Given the description of an element on the screen output the (x, y) to click on. 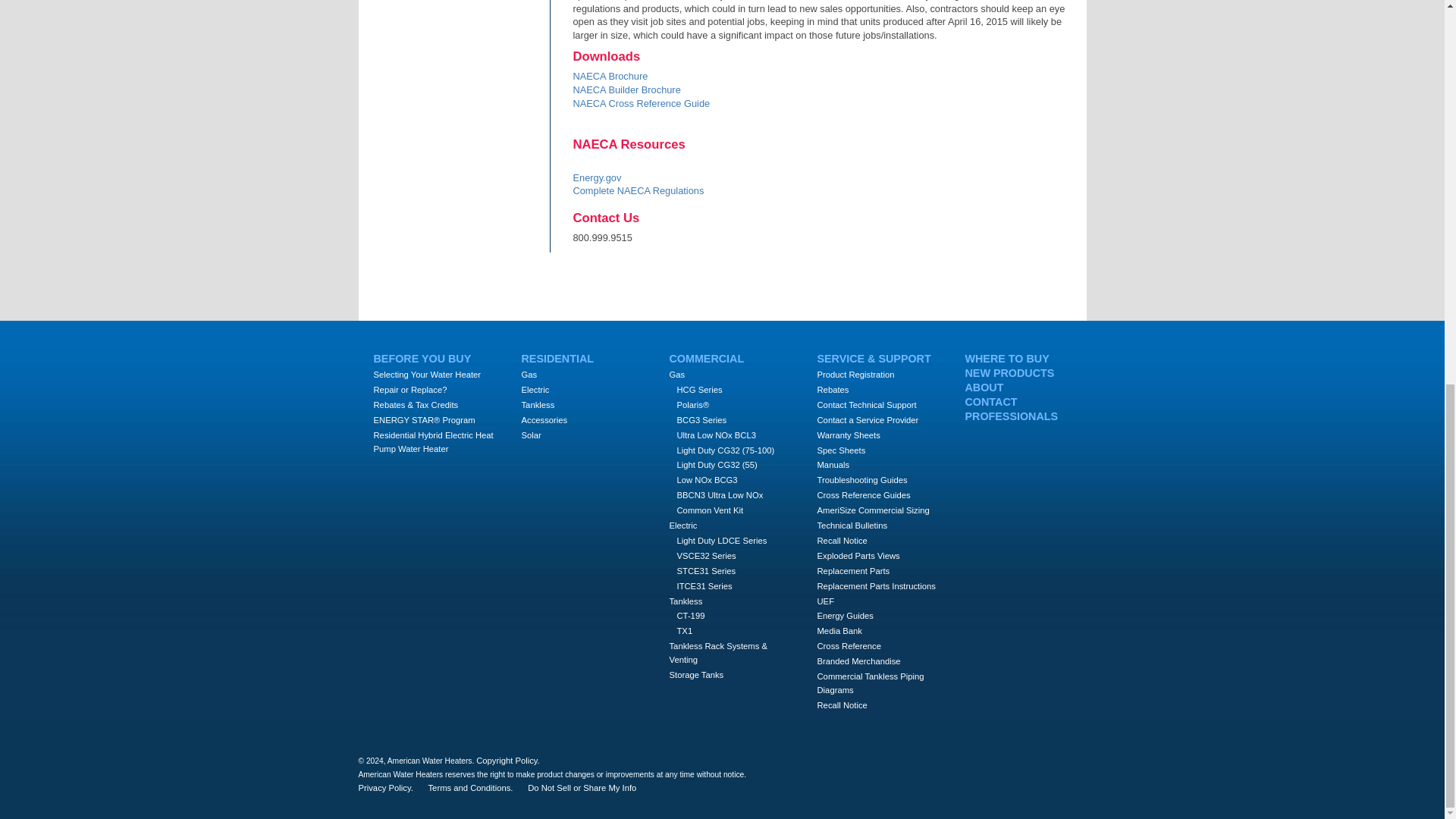
Terms and Conditions (470, 788)
Copyright (508, 759)
Privacy Policy (385, 788)
